Given the description of an element on the screen output the (x, y) to click on. 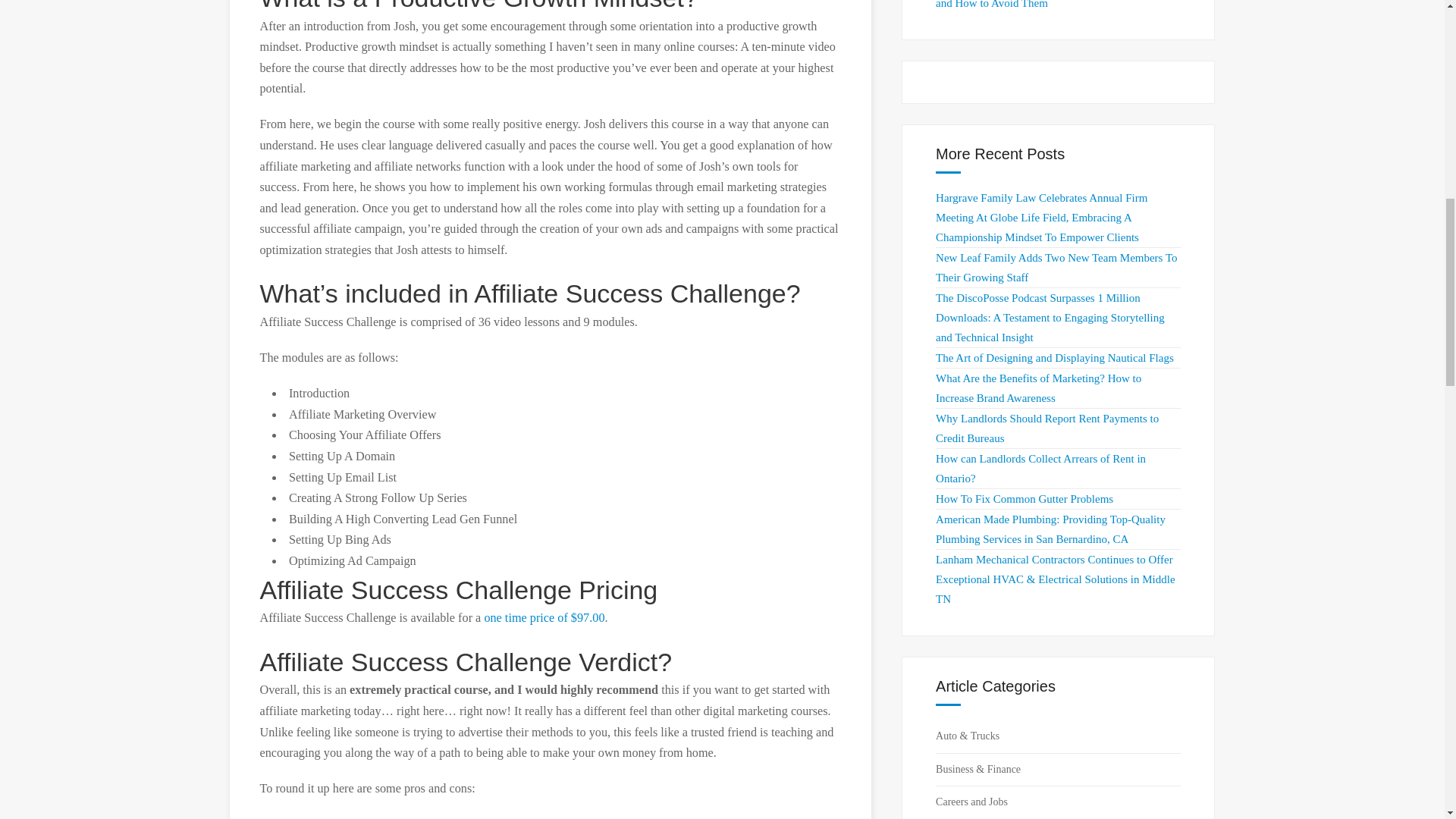
Why Landlords Should Report Rent Payments to Credit Bureaus (1047, 428)
How can Landlords Collect Arrears of Rent in Ontario? (1040, 468)
The Art of Designing and Displaying Nautical Flags (1054, 357)
